Given the description of an element on the screen output the (x, y) to click on. 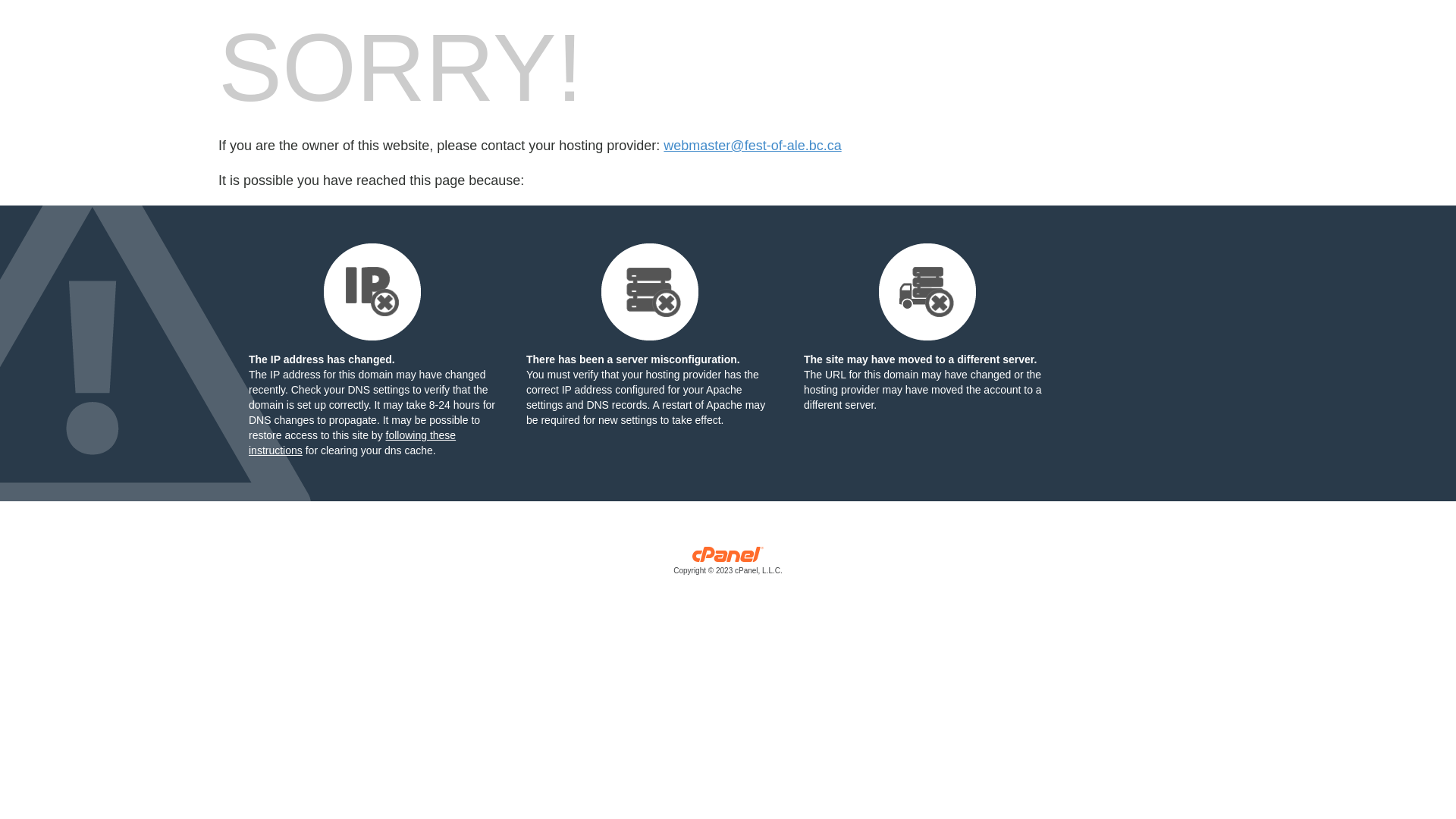
following these instructions Element type: text (351, 442)
webmaster@fest-of-ale.bc.ca Element type: text (751, 145)
